Given the description of an element on the screen output the (x, y) to click on. 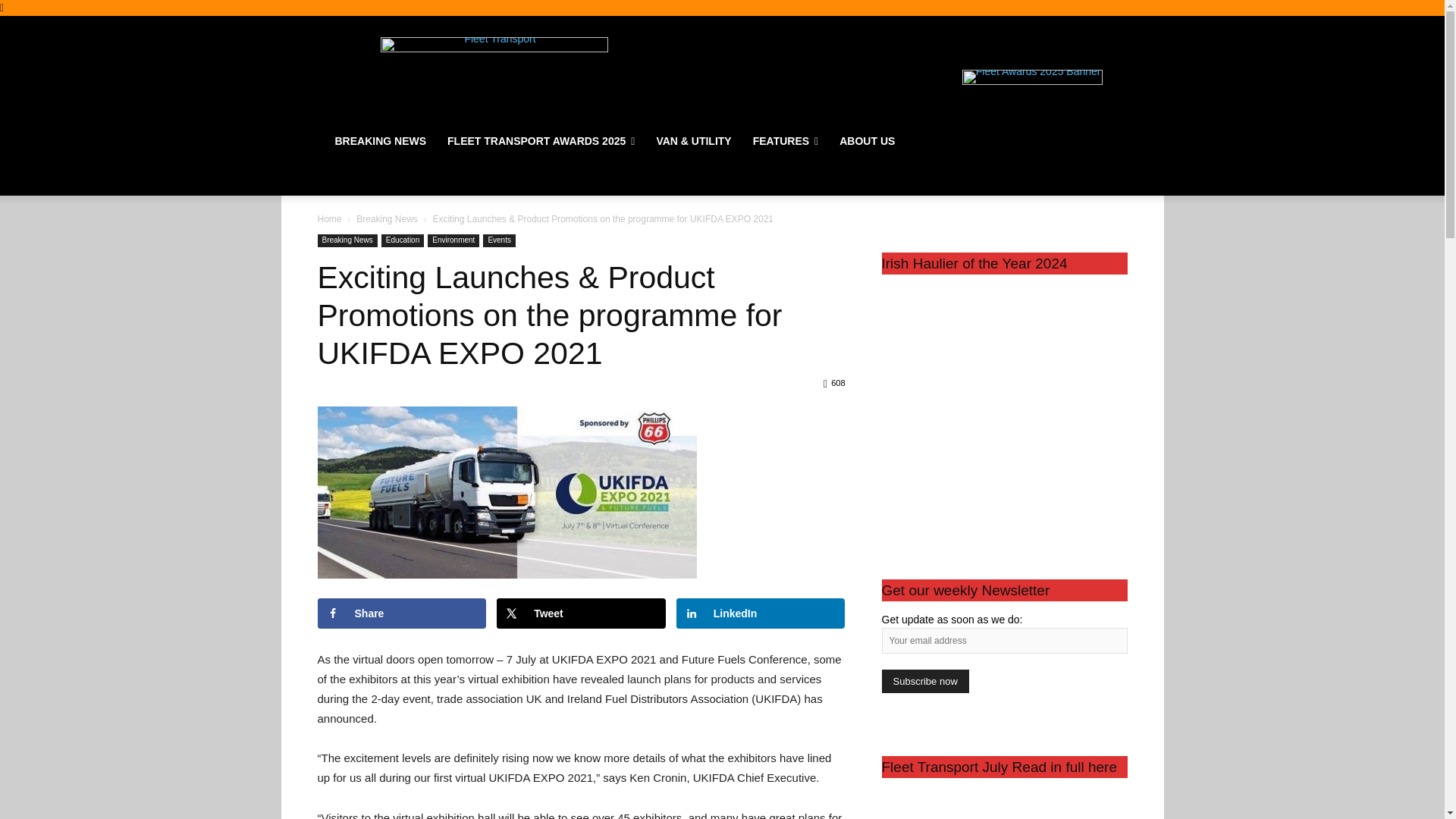
BREAKING NEWS (381, 140)
View all posts in Breaking News (386, 218)
Share on Facebook (401, 613)
Fleet Awards 2025 Banner (1032, 77)
Fleet Transport (494, 76)
S1 UKIFDA (506, 492)
Subscribe now (924, 680)
Share on X (580, 613)
FLEET TRANSPORT AWARDS 2025 (540, 140)
Share on LinkedIn (761, 613)
